Given the description of an element on the screen output the (x, y) to click on. 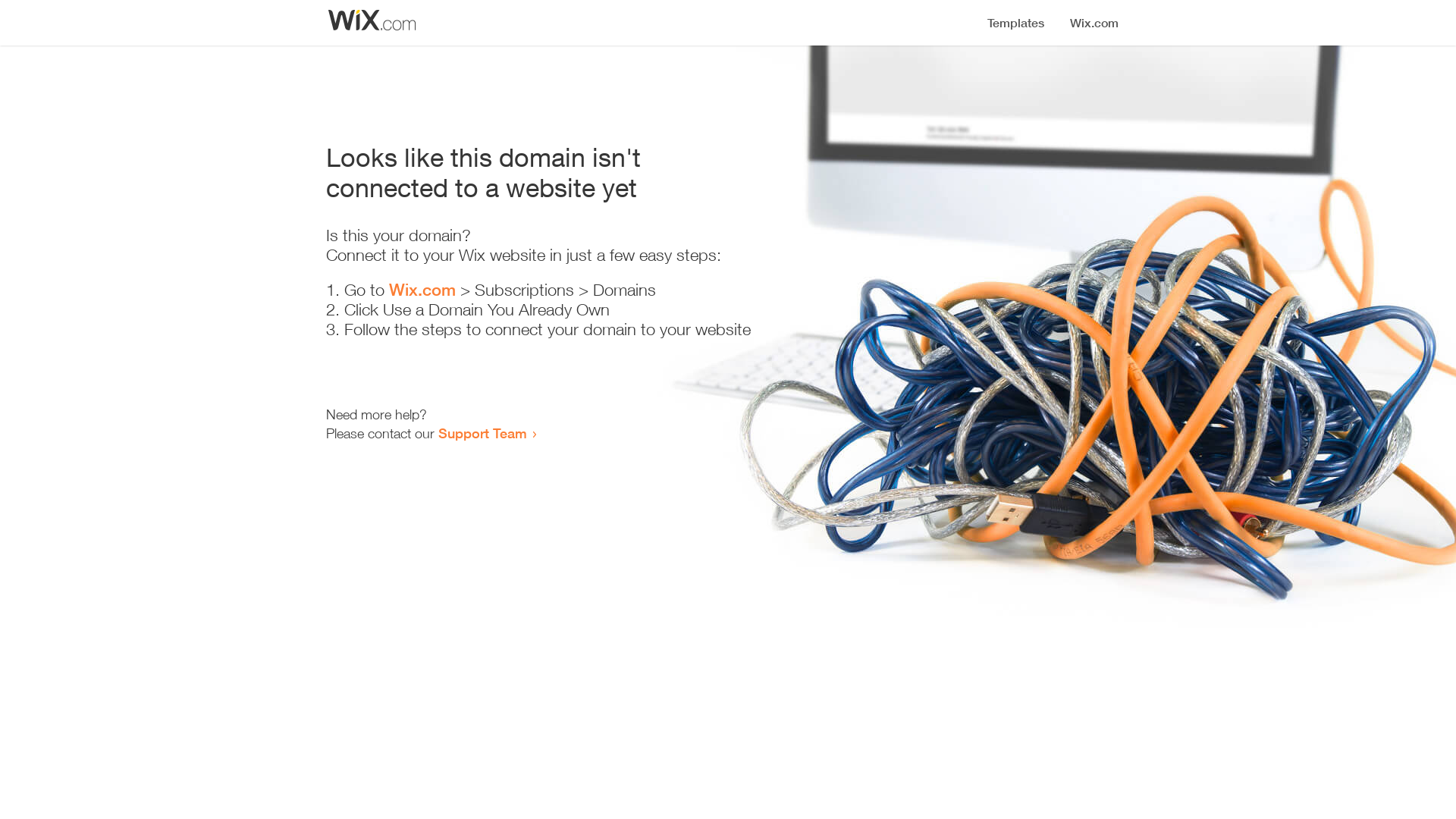
Support Team Element type: text (482, 432)
Wix.com Element type: text (422, 289)
